Given the description of an element on the screen output the (x, y) to click on. 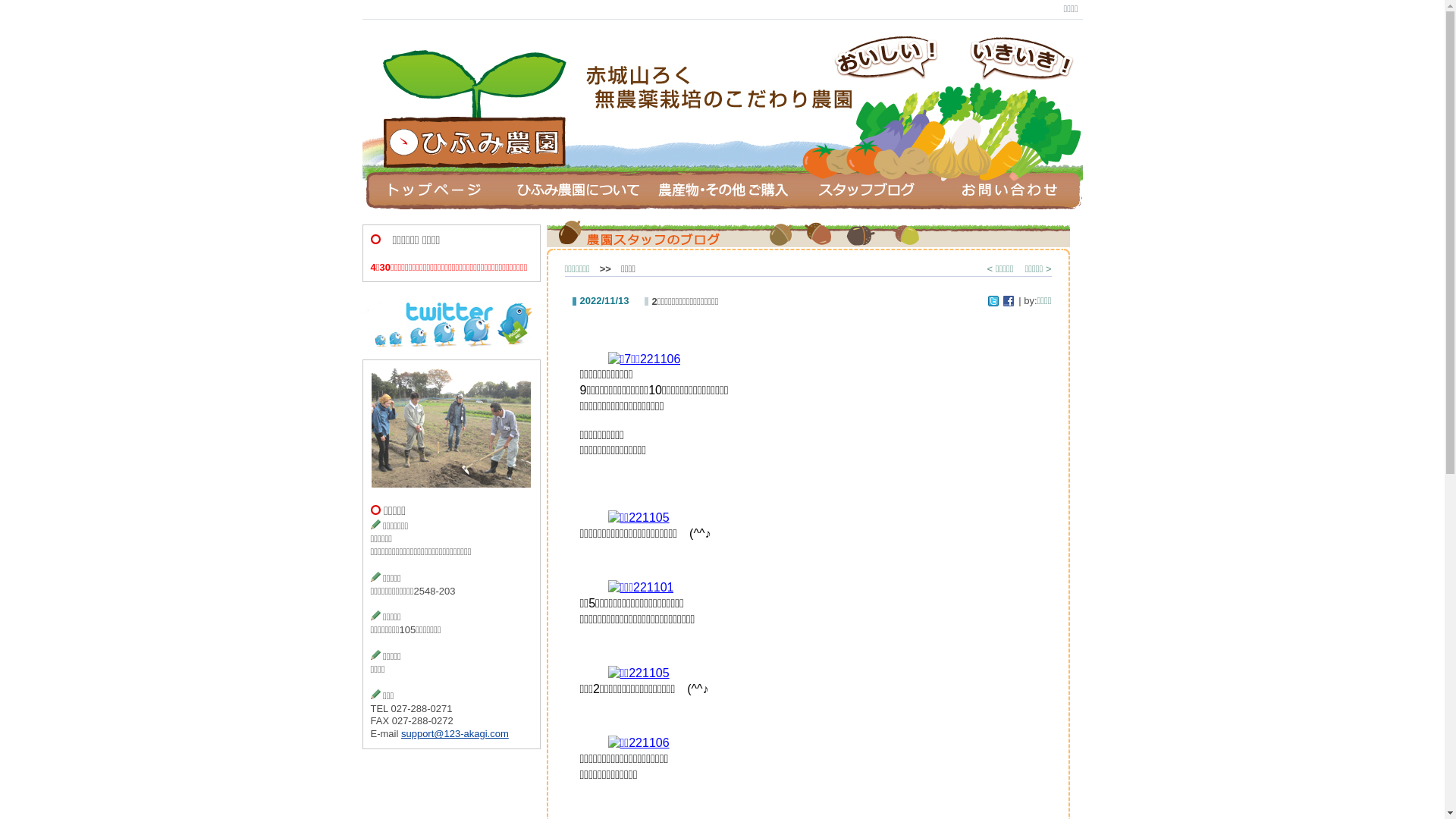
Tweet This Element type: hover (993, 300)
support@123-akagi.com Element type: text (454, 733)
Send to Facebook Element type: hover (1008, 300)
